Given the description of an element on the screen output the (x, y) to click on. 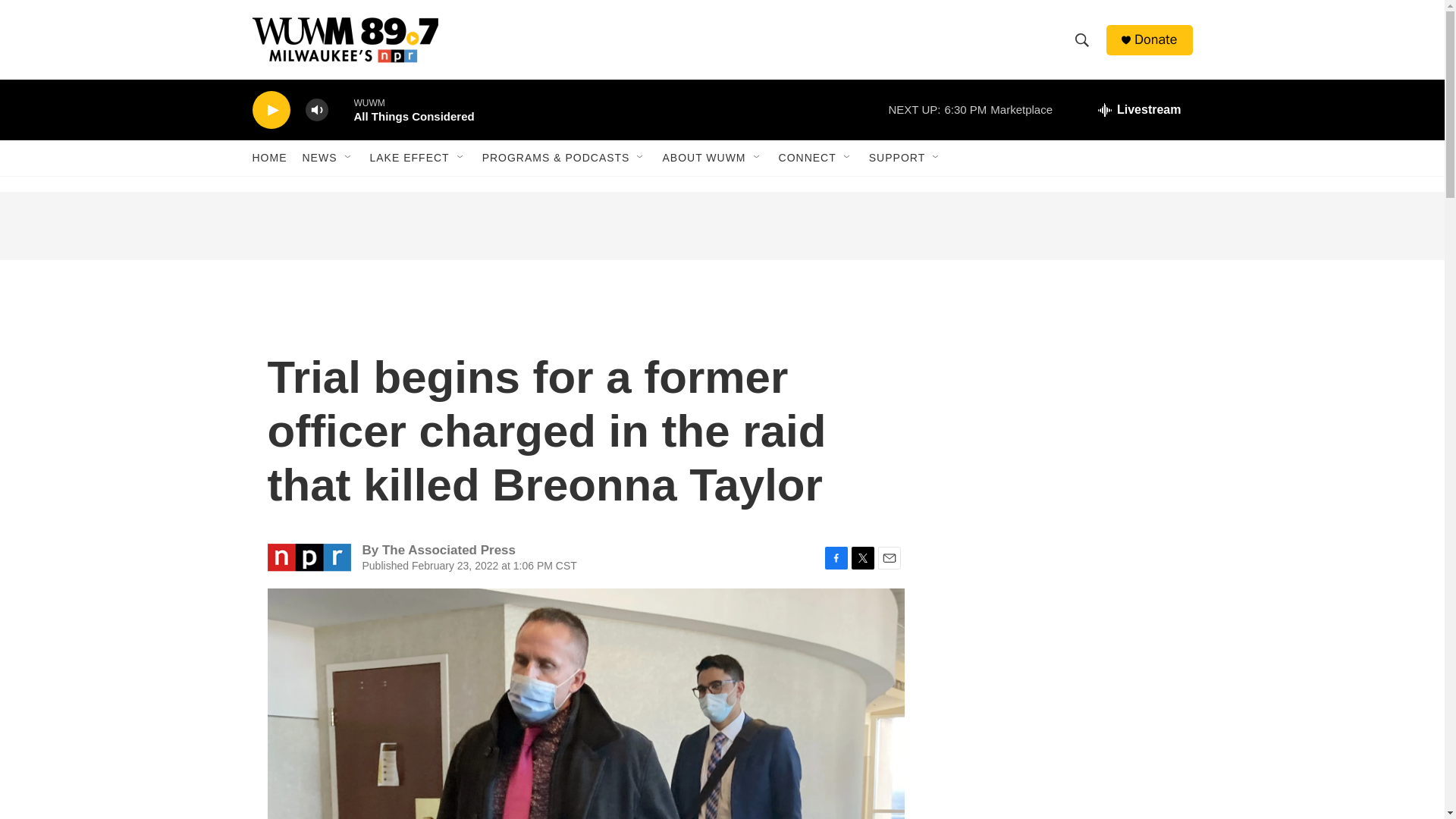
3rd party ad content (721, 225)
3rd party ad content (1062, 619)
3rd party ad content (1062, 400)
